Given the description of an element on the screen output the (x, y) to click on. 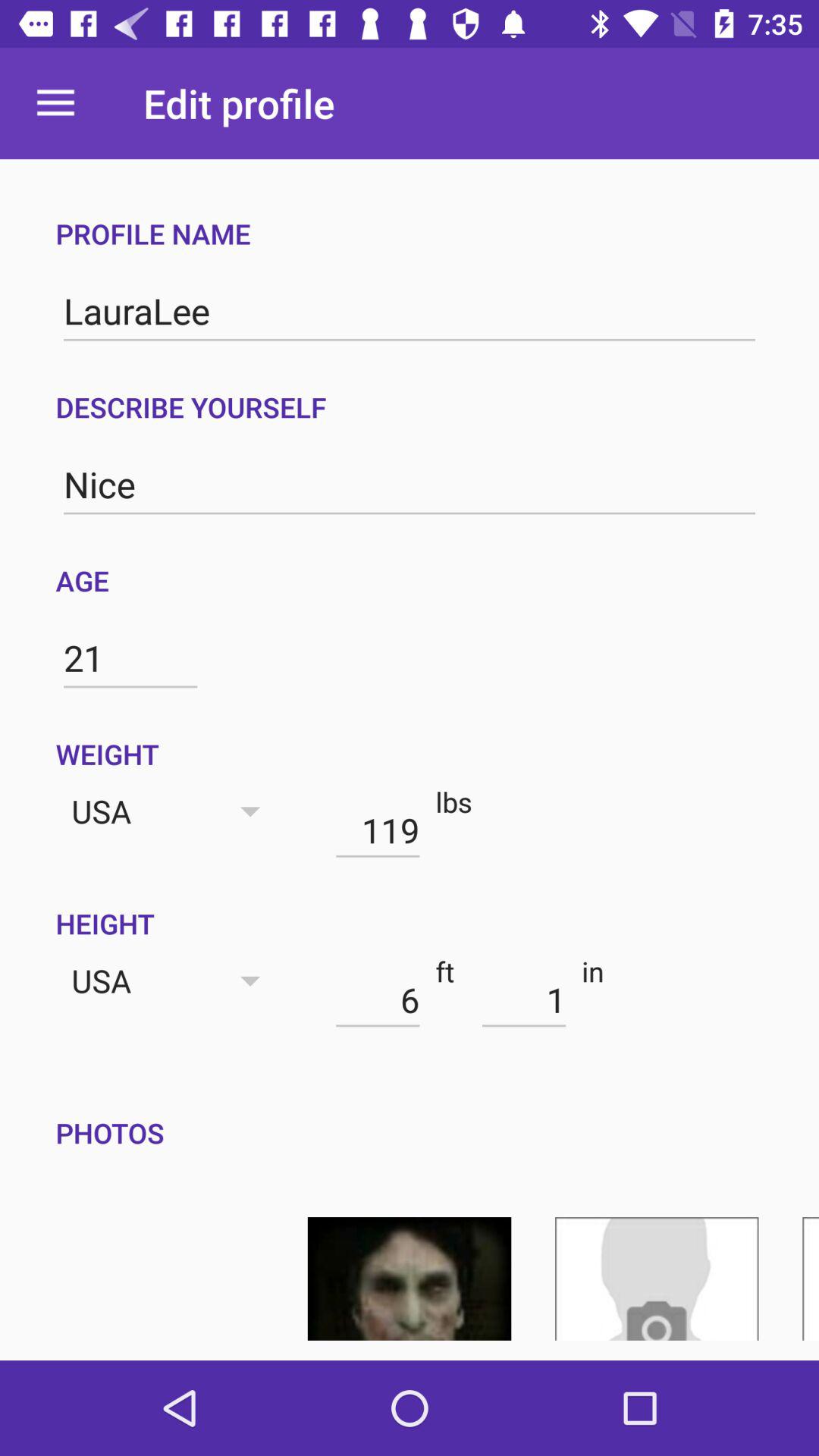
turn off item above the profile name item (55, 103)
